Given the description of an element on the screen output the (x, y) to click on. 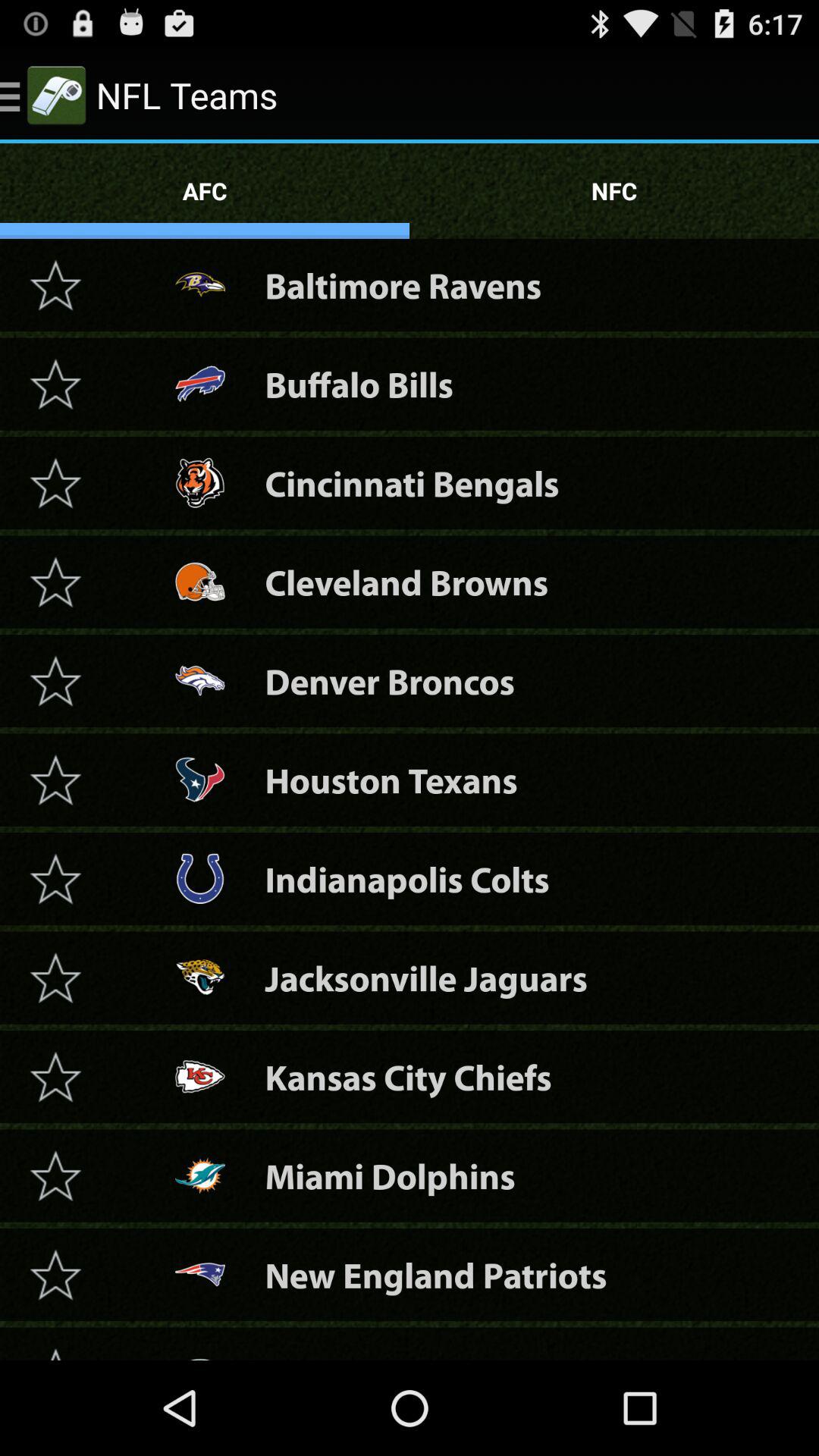
scroll until afc (204, 190)
